Given the description of an element on the screen output the (x, y) to click on. 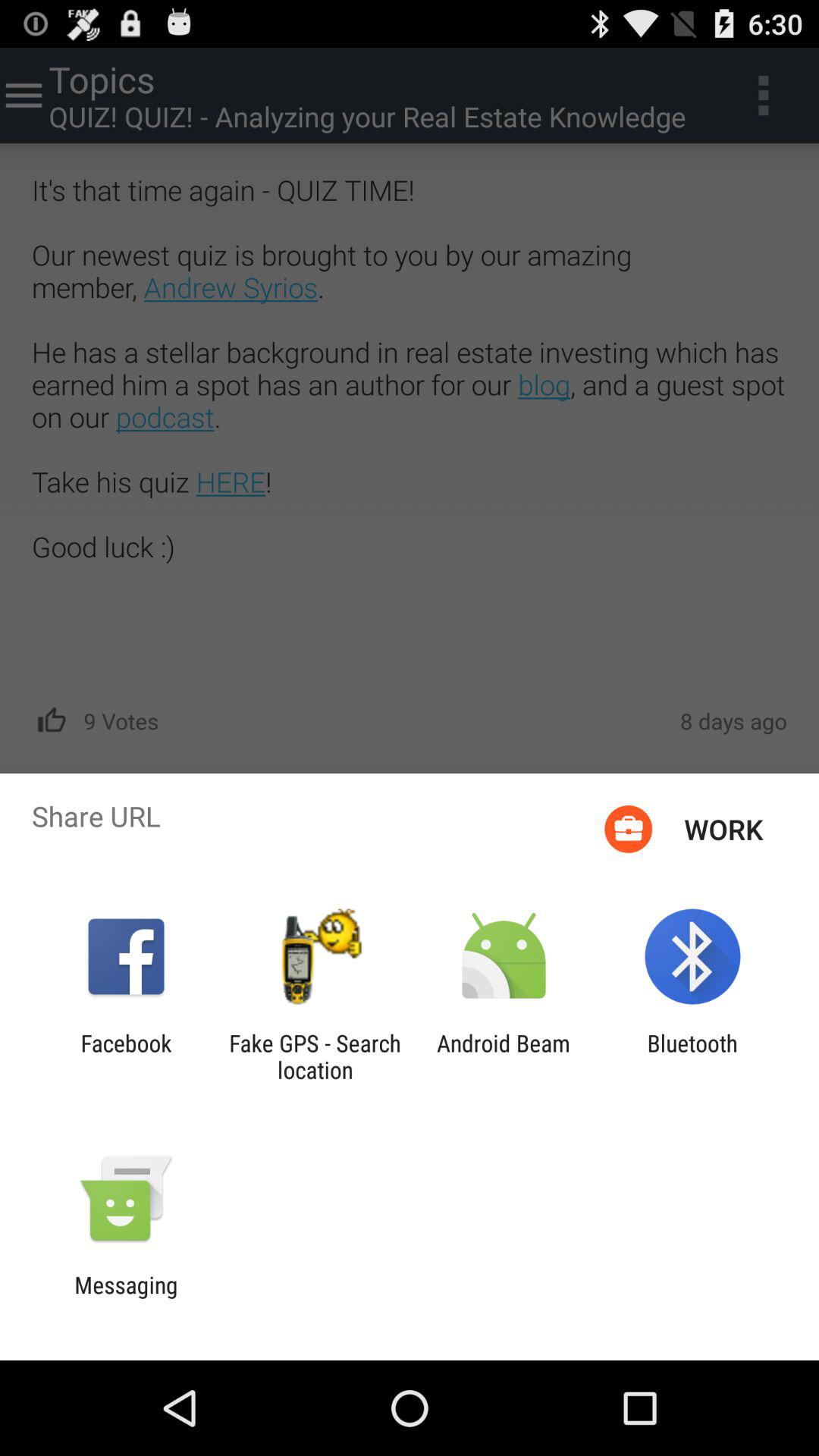
scroll until the facebook app (125, 1056)
